Given the description of an element on the screen output the (x, y) to click on. 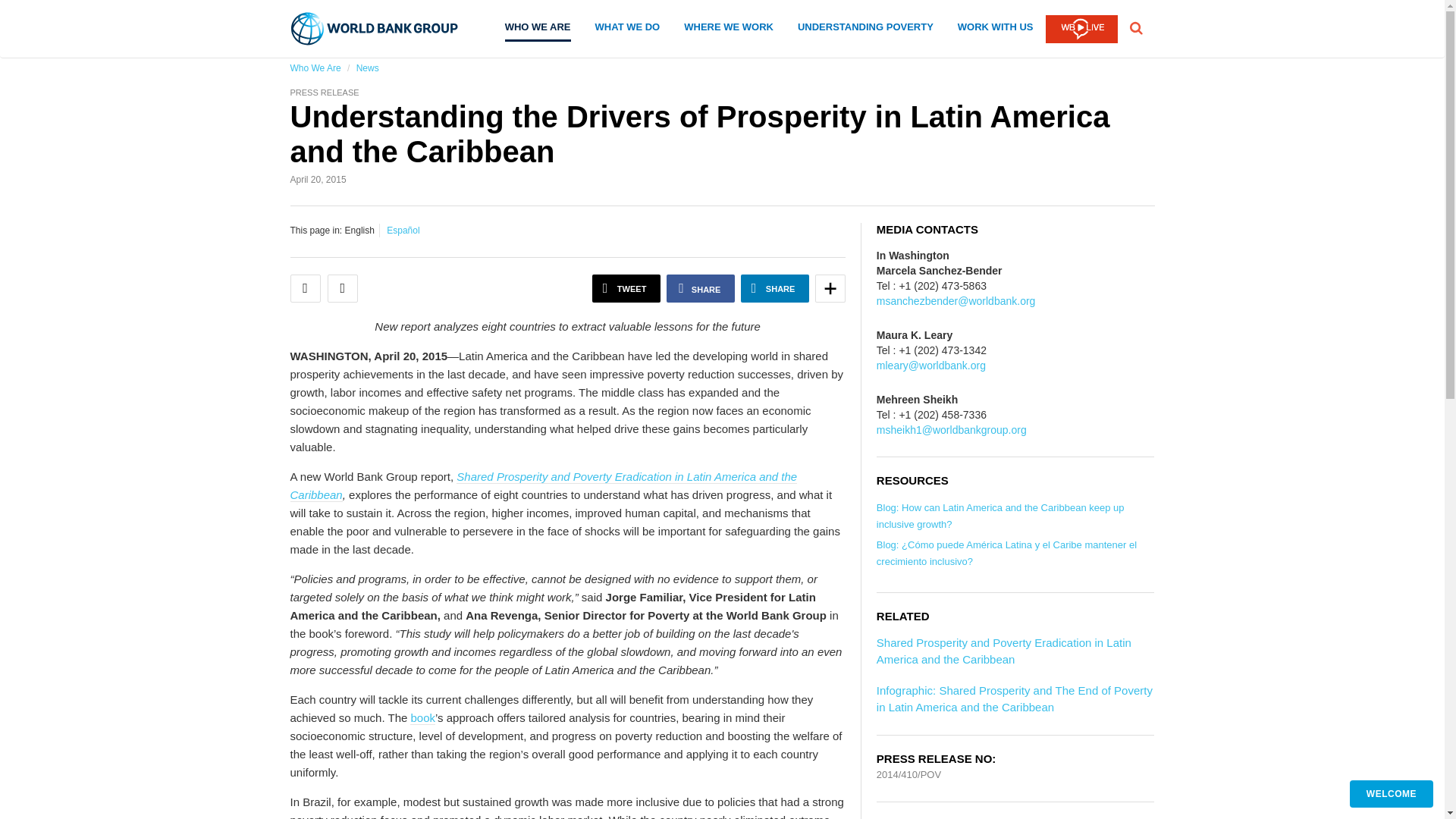
WHAT WE DO (628, 30)
Tweet (626, 288)
The World Bank Working for a World Free of Poverty (374, 28)
Share (830, 288)
Email (304, 288)
Facebook (700, 288)
WHO WE ARE (537, 31)
Share (775, 288)
Print (342, 288)
